Given the description of an element on the screen output the (x, y) to click on. 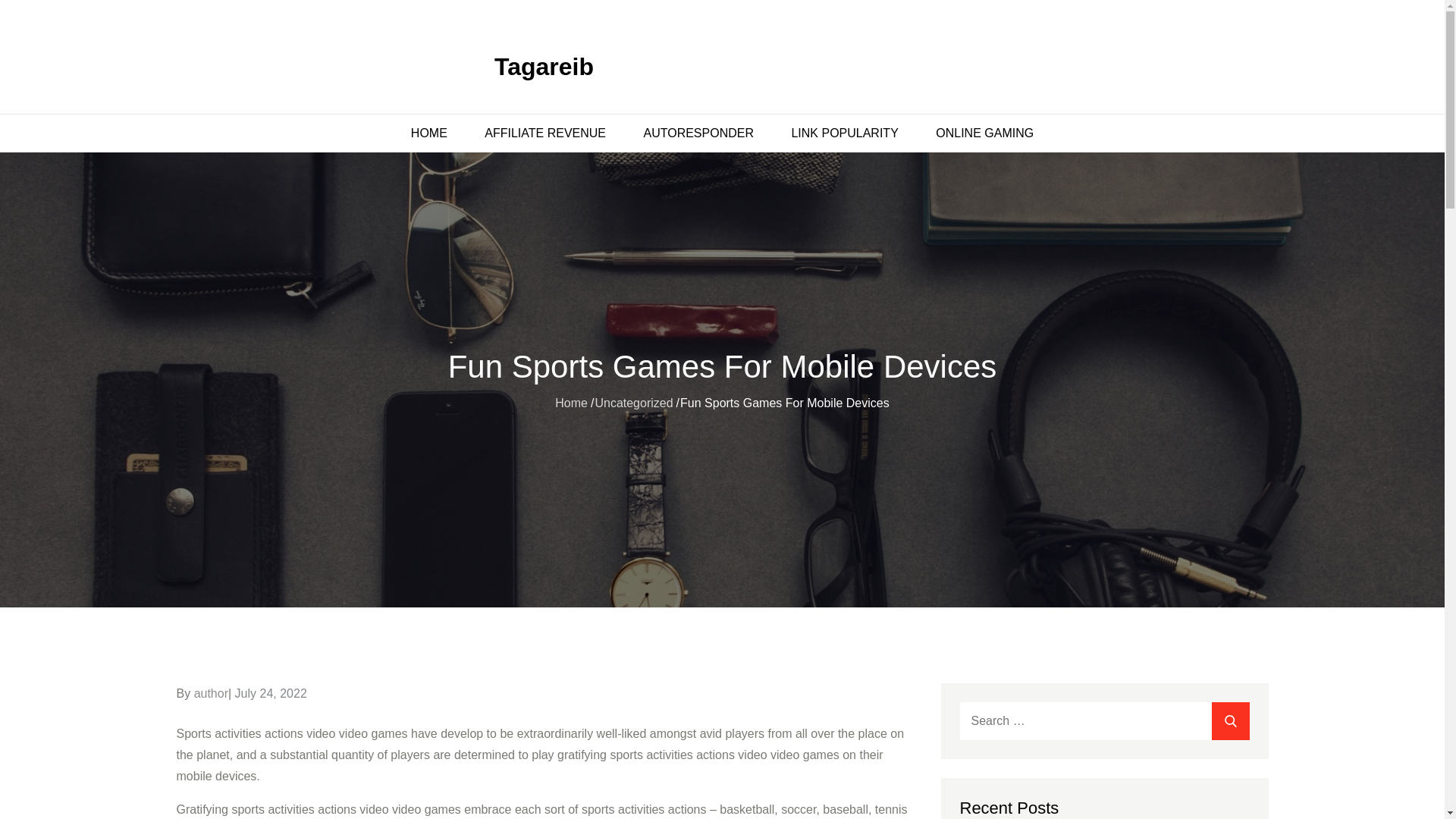
author (210, 693)
July 24, 2022 (270, 693)
Home (571, 402)
ONLINE GAMING (984, 133)
SEARCH (1230, 720)
Tagareib (544, 66)
Uncategorized (633, 402)
AFFILIATE REVENUE (544, 133)
LINK POPULARITY (844, 133)
AUTORESPONDER (697, 133)
